Given the description of an element on the screen output the (x, y) to click on. 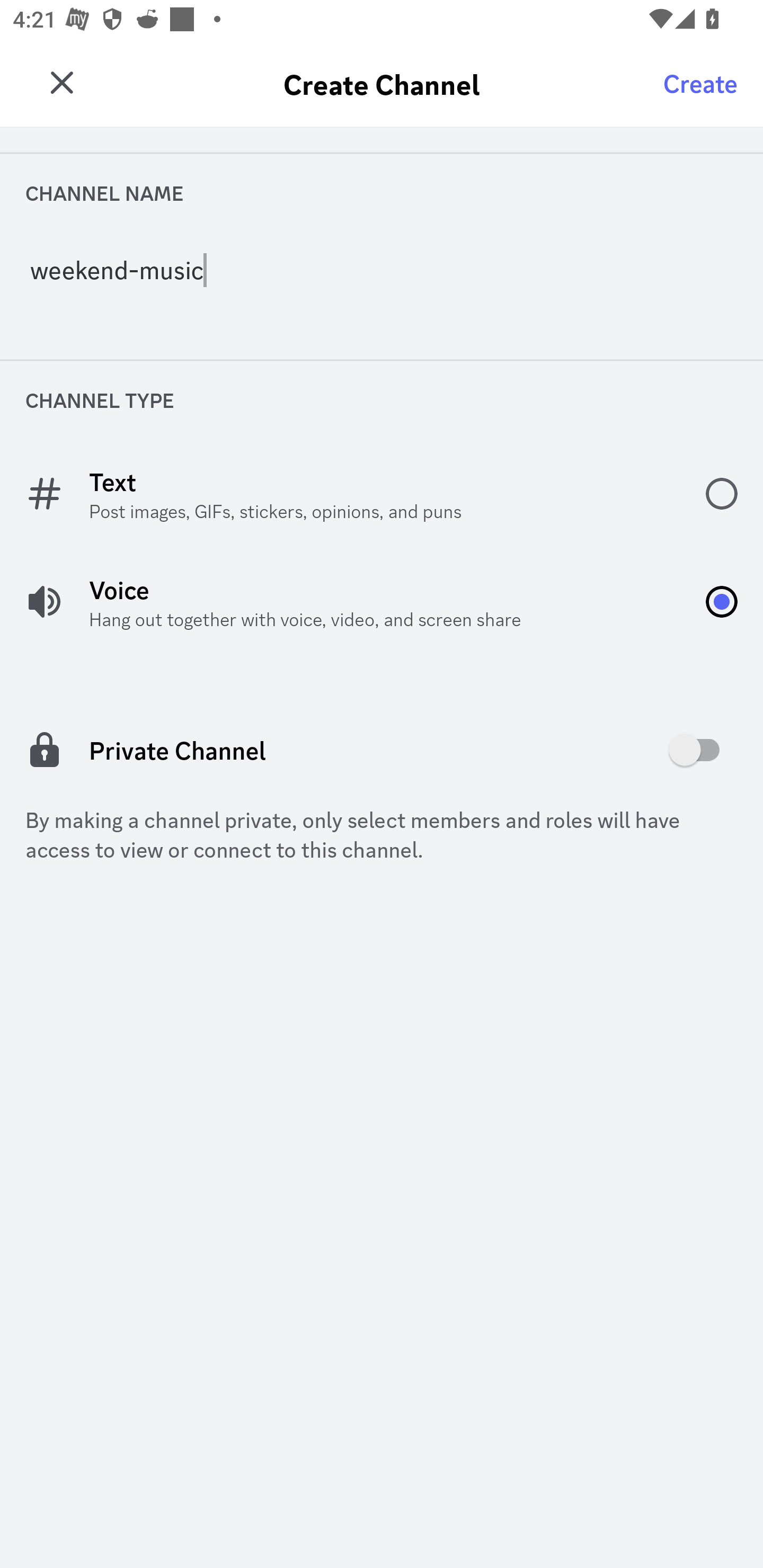
  Friends F (66, 75)
Friends (server) Friends (server) Friends Friends (412, 83)
Create (700, 82)
weekend-music Channel Name (381, 274)
off Private Channel Private Channel (381, 749)
